Given the description of an element on the screen output the (x, y) to click on. 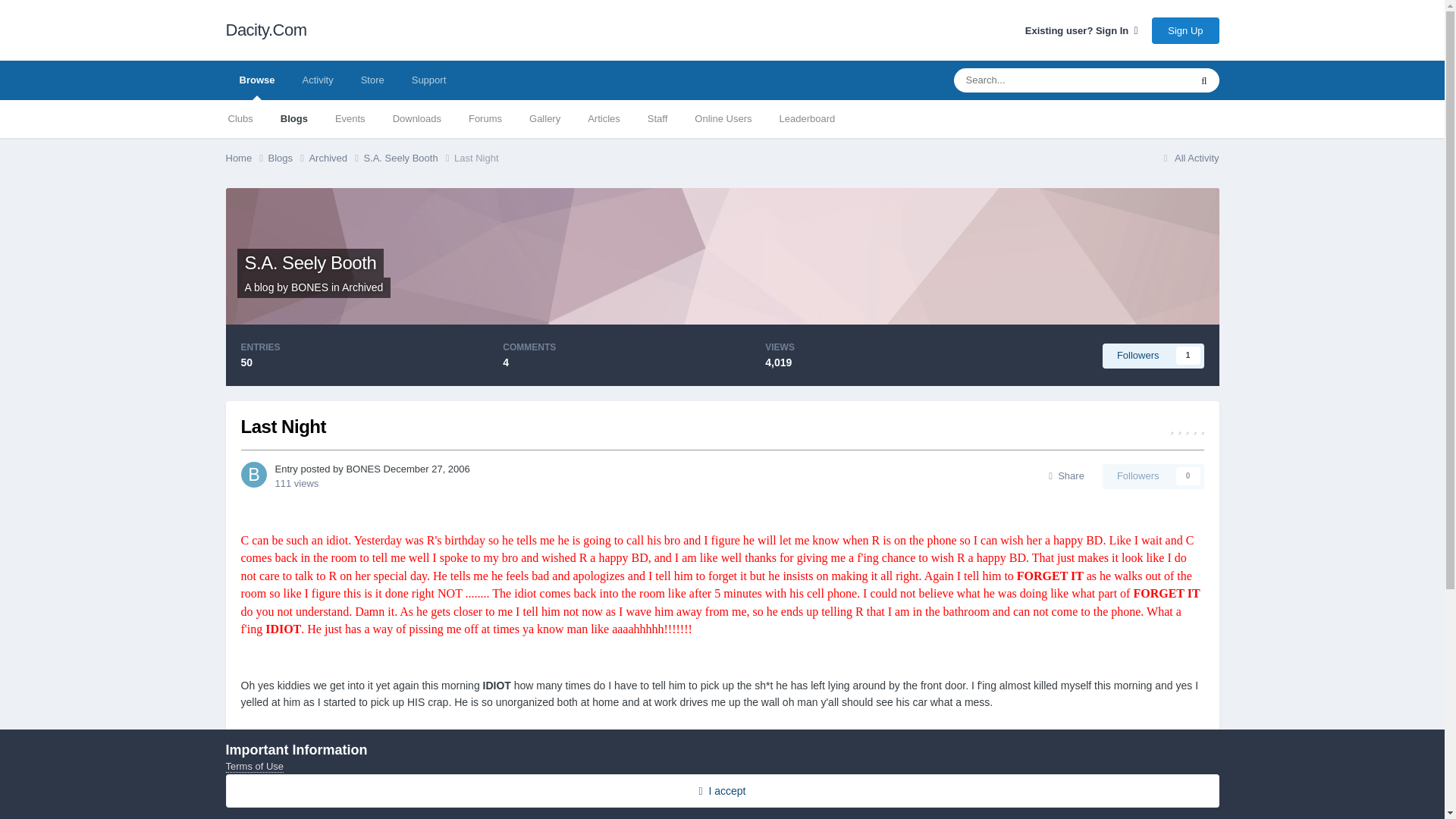
Store (372, 79)
Report Entry (280, 758)
Previous entry (358, 804)
Downloads (416, 118)
Sign Up (1184, 29)
Support (428, 79)
S.A. Seely Booth (408, 158)
Go to the blog S.A. Seely Booth (309, 262)
Sign in to follow this (1153, 476)
Go to BONES's profile (253, 474)
Articles (603, 118)
Browse (256, 79)
Blogs (287, 158)
Activity (317, 79)
Sign in to follow this (1153, 355)
